Given the description of an element on the screen output the (x, y) to click on. 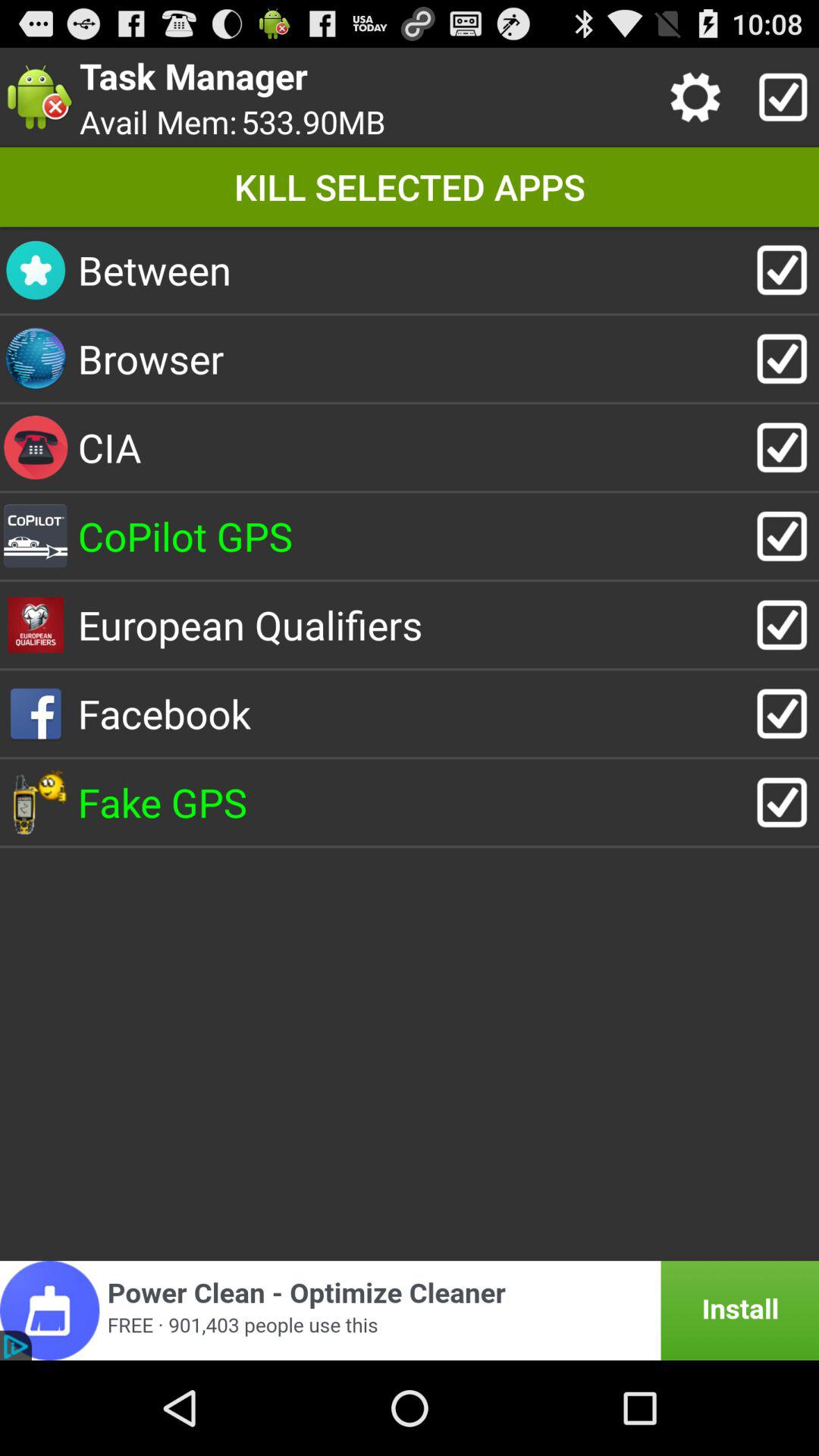
go back (409, 1310)
